Given the description of an element on the screen output the (x, y) to click on. 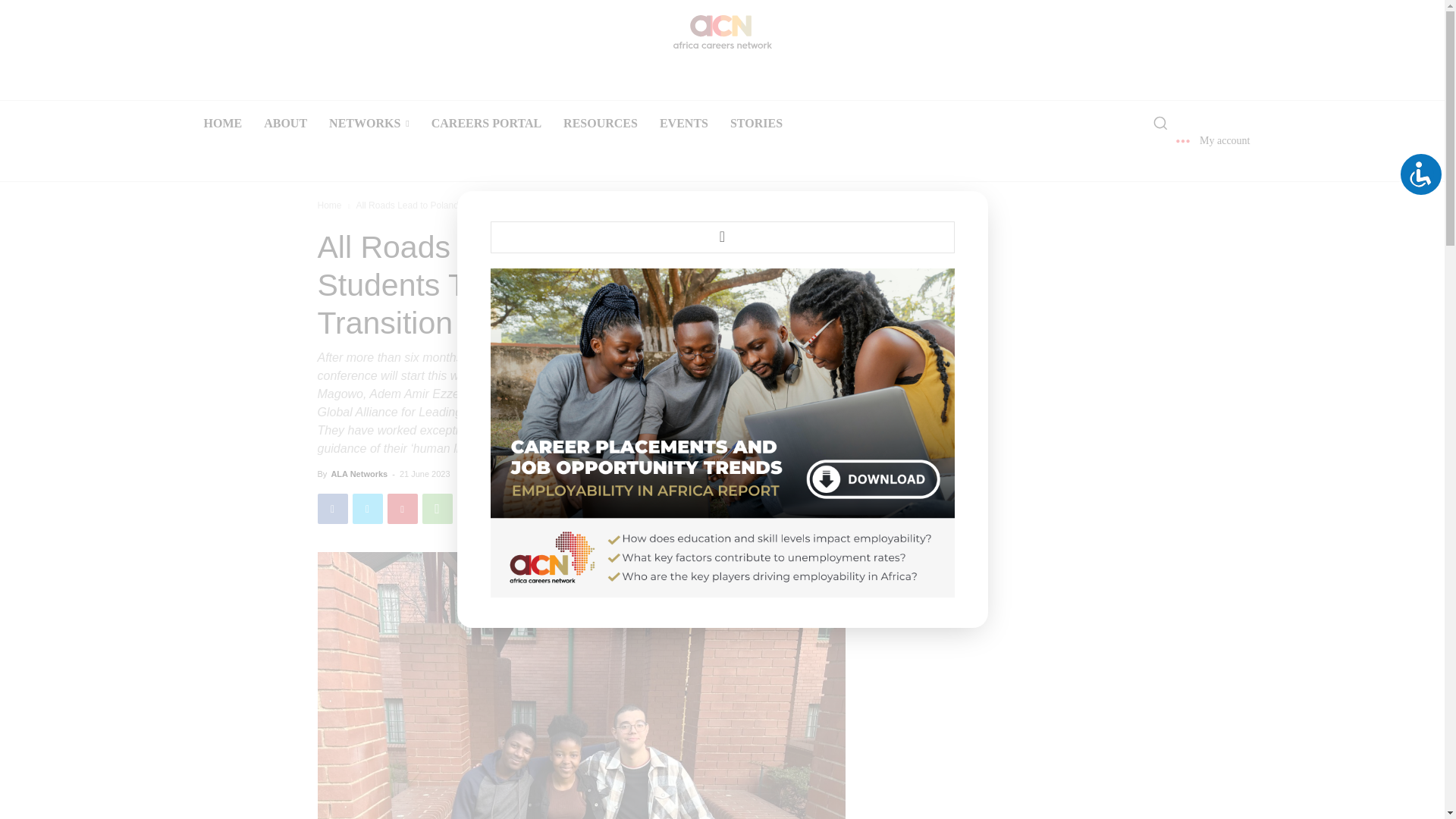
ABOUT (284, 122)
HOME (221, 122)
